Given the description of an element on the screen output the (x, y) to click on. 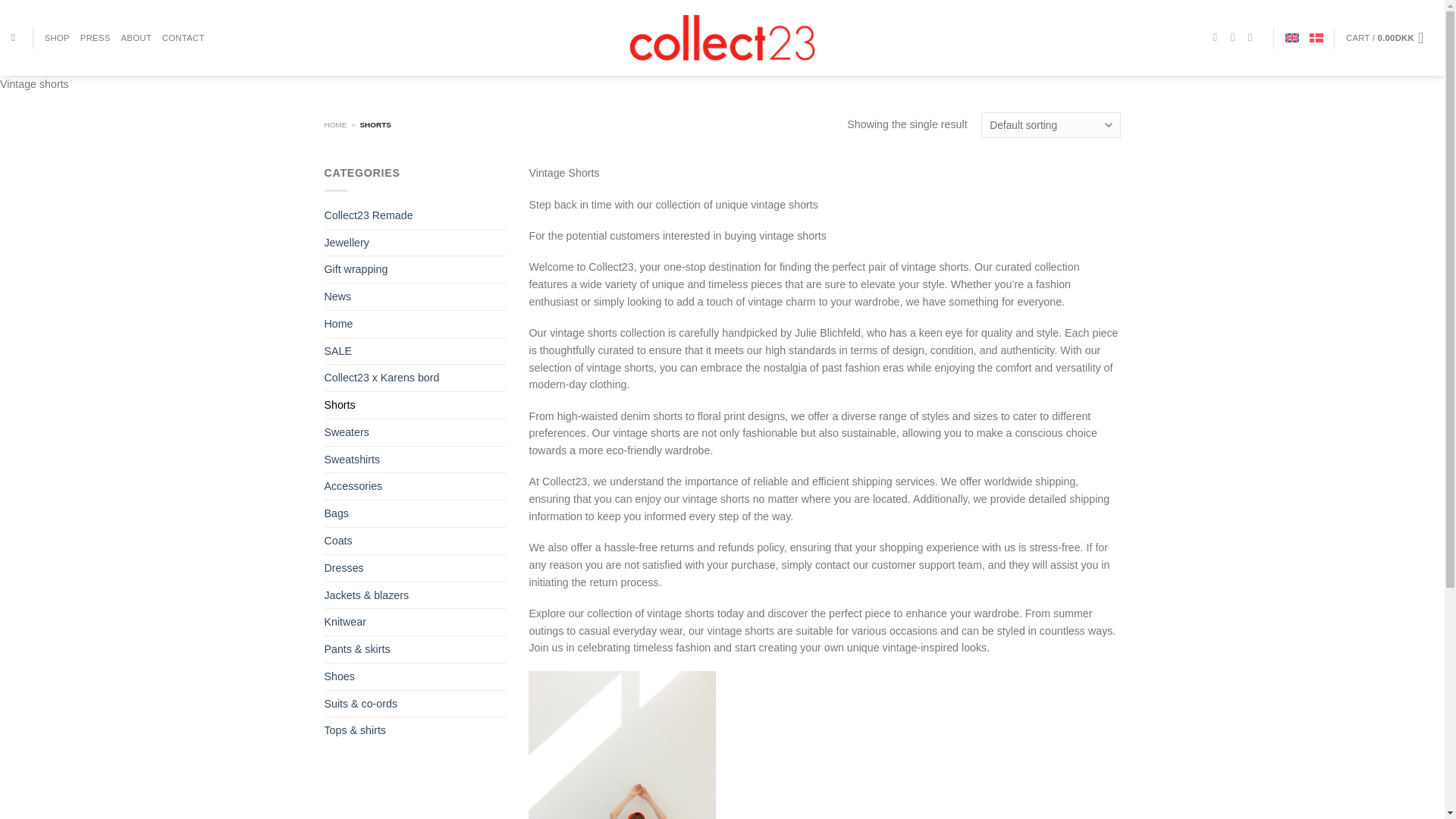
HOME (335, 124)
Follow on Instagram (1235, 37)
News (415, 296)
Cart (1388, 37)
Shoes (415, 676)
Send us an email (1253, 37)
Sweatshirts (415, 459)
Home (415, 324)
Coats (415, 540)
Collect23 - vintage webshop (721, 37)
